Given the description of an element on the screen output the (x, y) to click on. 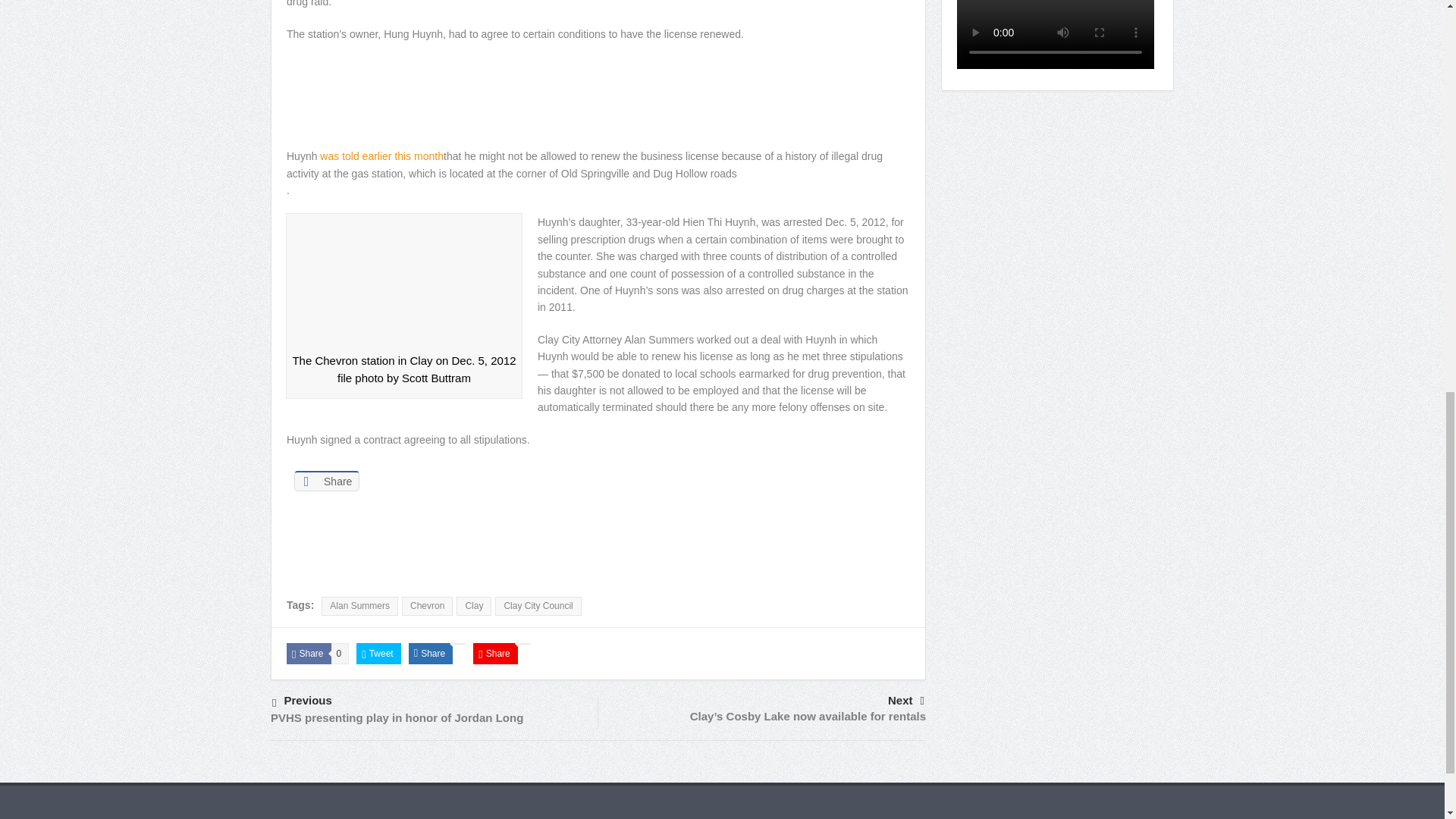
Share on Facebook (326, 480)
